Given the description of an element on the screen output the (x, y) to click on. 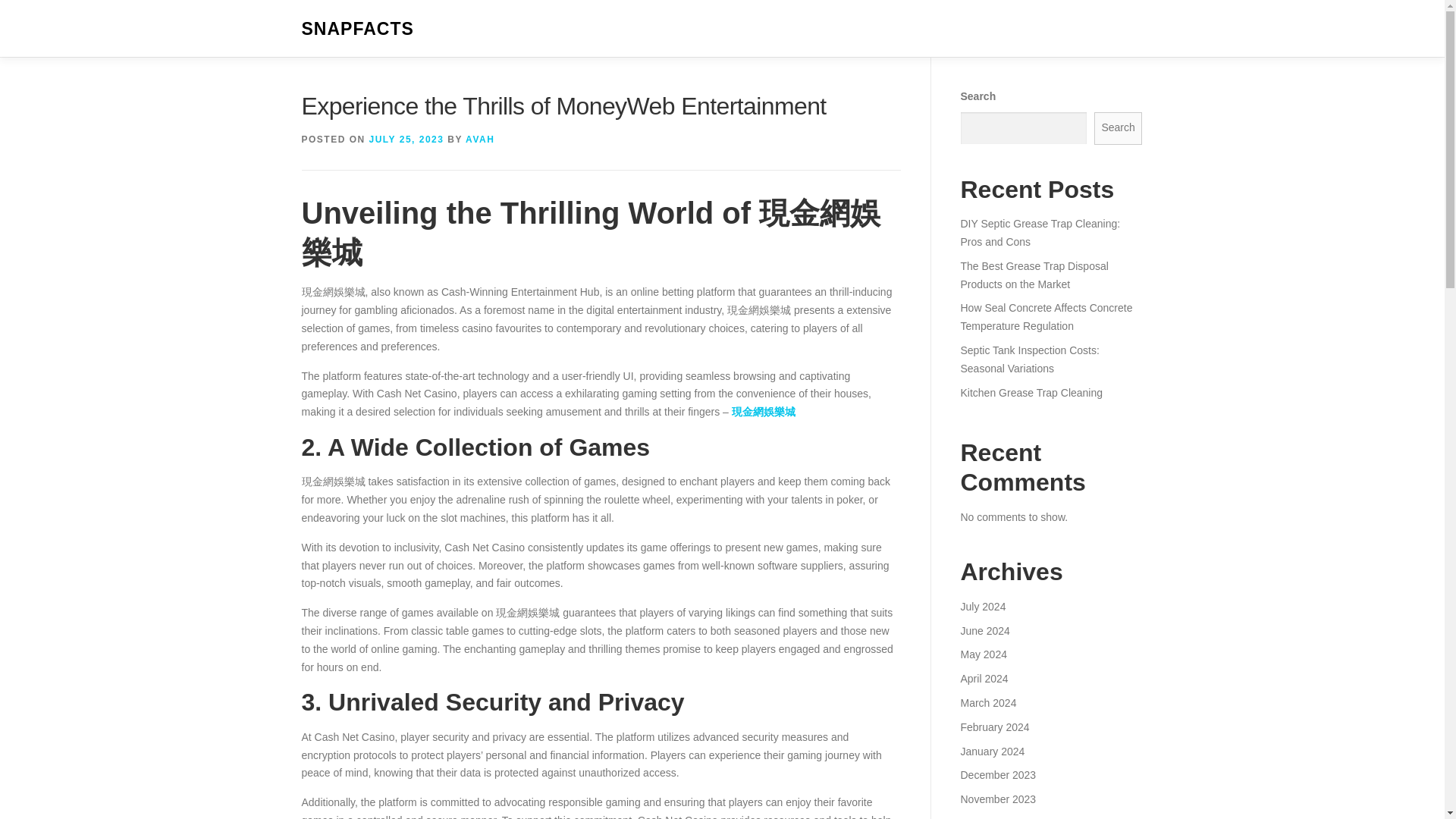
March 2024 (987, 702)
AVAH (480, 139)
January 2024 (992, 750)
June 2024 (984, 630)
February 2024 (994, 727)
December 2023 (997, 775)
October 2023 (992, 818)
May 2024 (982, 654)
JULY 25, 2023 (406, 139)
Septic Tank Inspection Costs: Seasonal Variations (1029, 358)
April 2024 (983, 678)
Search (1118, 128)
November 2023 (997, 799)
Kitchen Grease Trap Cleaning (1030, 392)
July 2024 (982, 606)
